Given the description of an element on the screen output the (x, y) to click on. 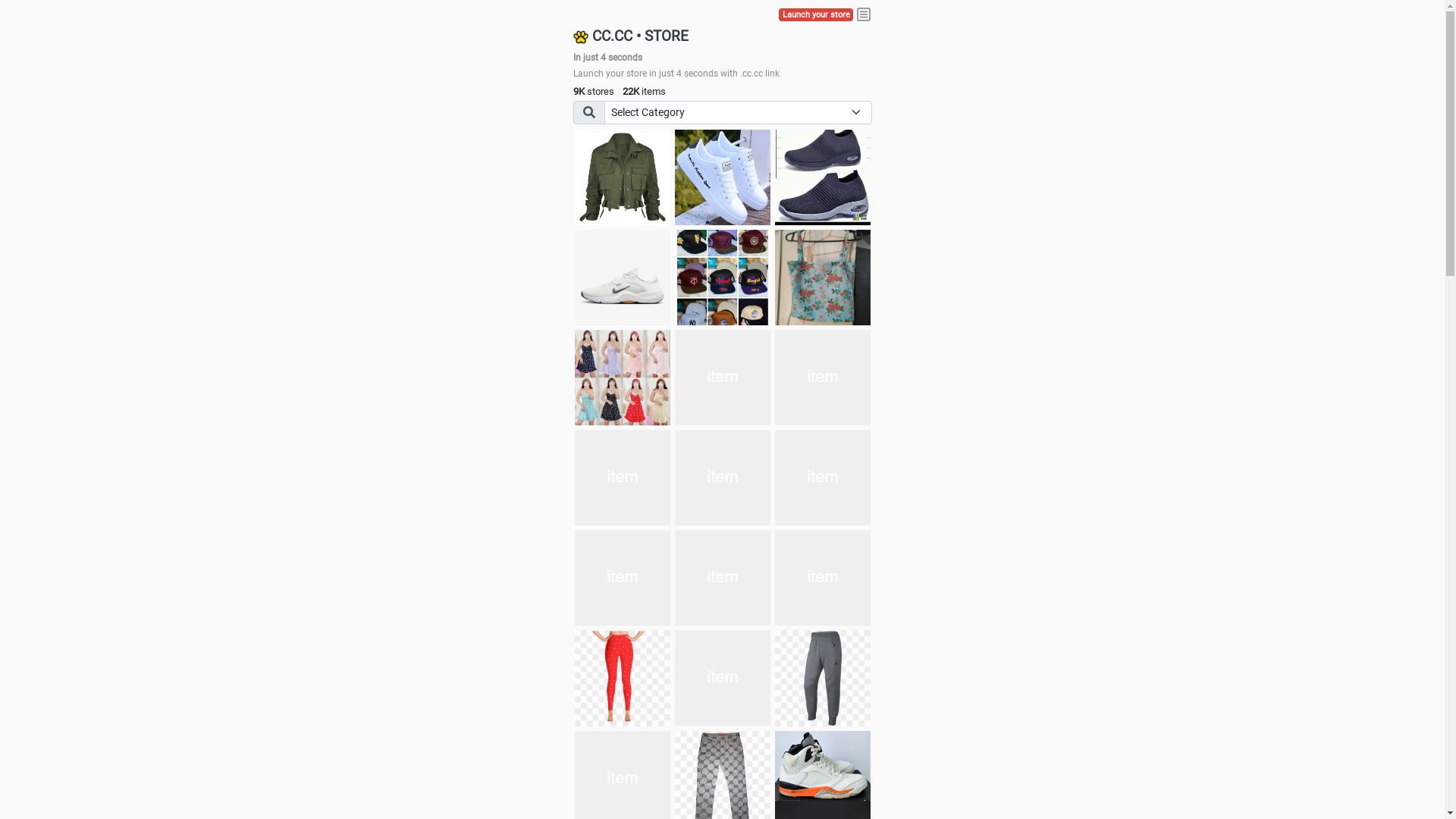
white shoes Element type: hover (722, 177)
Launch your store Element type: text (815, 14)
Zapatillas Element type: hover (722, 477)
Ukay cloth Element type: hover (822, 277)
Pant Element type: hover (622, 577)
shoes for boys Element type: hover (822, 177)
Shoes for boys Element type: hover (622, 277)
Pant Element type: hover (722, 577)
Short pant Element type: hover (822, 477)
Zapatillas pumas Element type: hover (622, 477)
Pant Element type: hover (622, 677)
Dress/square nect top Element type: hover (622, 377)
Things we need Element type: hover (722, 277)
Pant Element type: hover (722, 677)
jacket Element type: hover (622, 177)
Pant Element type: hover (822, 677)
Shoes Element type: hover (722, 377)
Pant Element type: hover (822, 577)
